Given the description of an element on the screen output the (x, y) to click on. 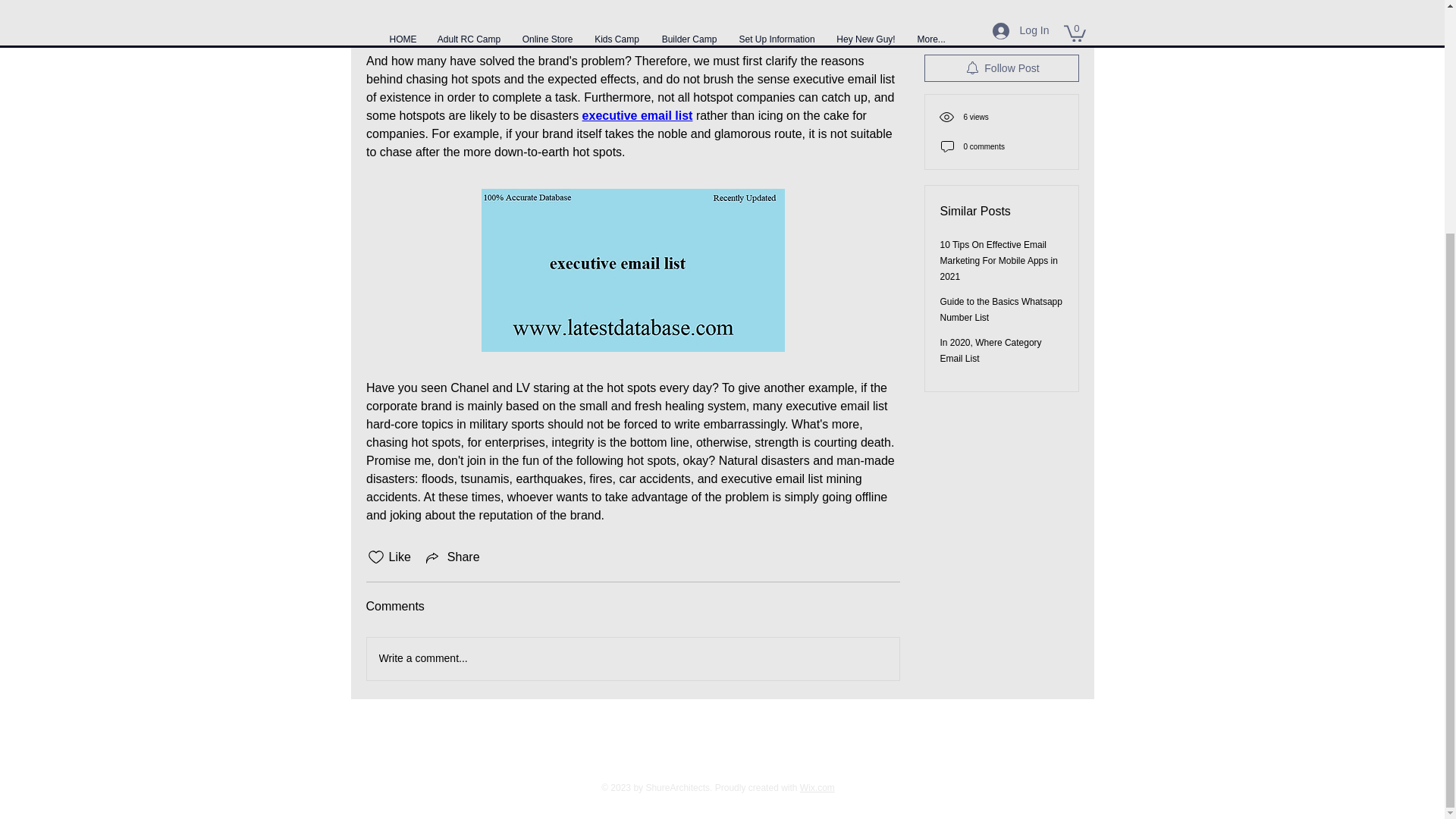
In 2020, Where Category Email List (991, 135)
10 Tips On Effective Email Marketing For Mobile Apps in 2021 (999, 46)
executive email list (636, 115)
Share (451, 556)
Guide to the Basics Whatsapp Number List (1001, 94)
Write a comment... (632, 659)
Wix.com (816, 787)
